Given the description of an element on the screen output the (x, y) to click on. 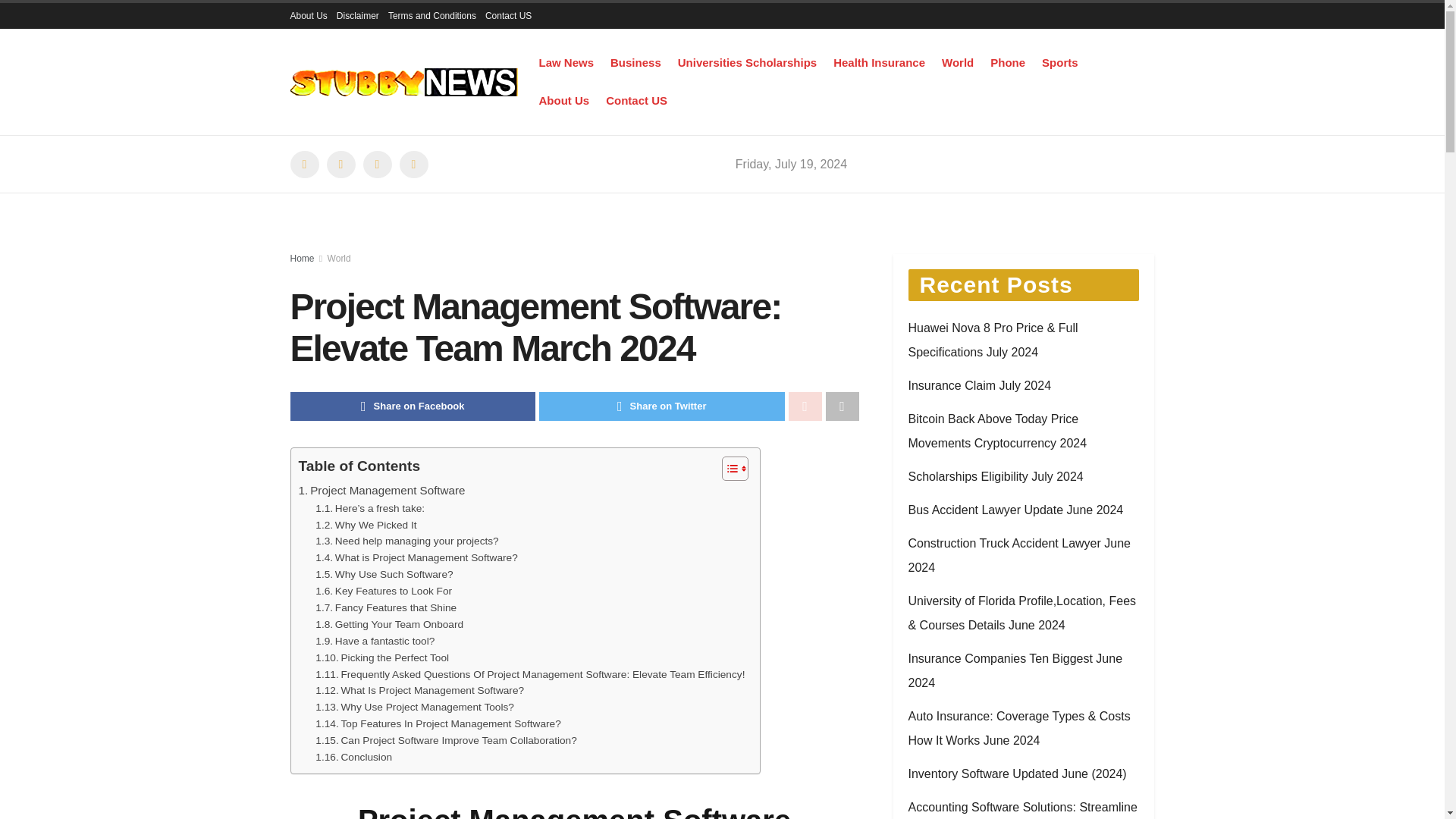
Contact US (507, 15)
Need help managing your projects? (406, 541)
Picking the Perfect Tool (381, 658)
About Us (307, 15)
Health Insurance (878, 62)
Key Features to Look For (383, 591)
Why Use Such Software? (383, 574)
Sports (1060, 62)
About Us (563, 100)
Phone (1007, 62)
Law News (566, 62)
Have a fantastic tool? (374, 641)
What is Project Management Software? (415, 557)
Getting Your Team Onboard (389, 624)
